Given the description of an element on the screen output the (x, y) to click on. 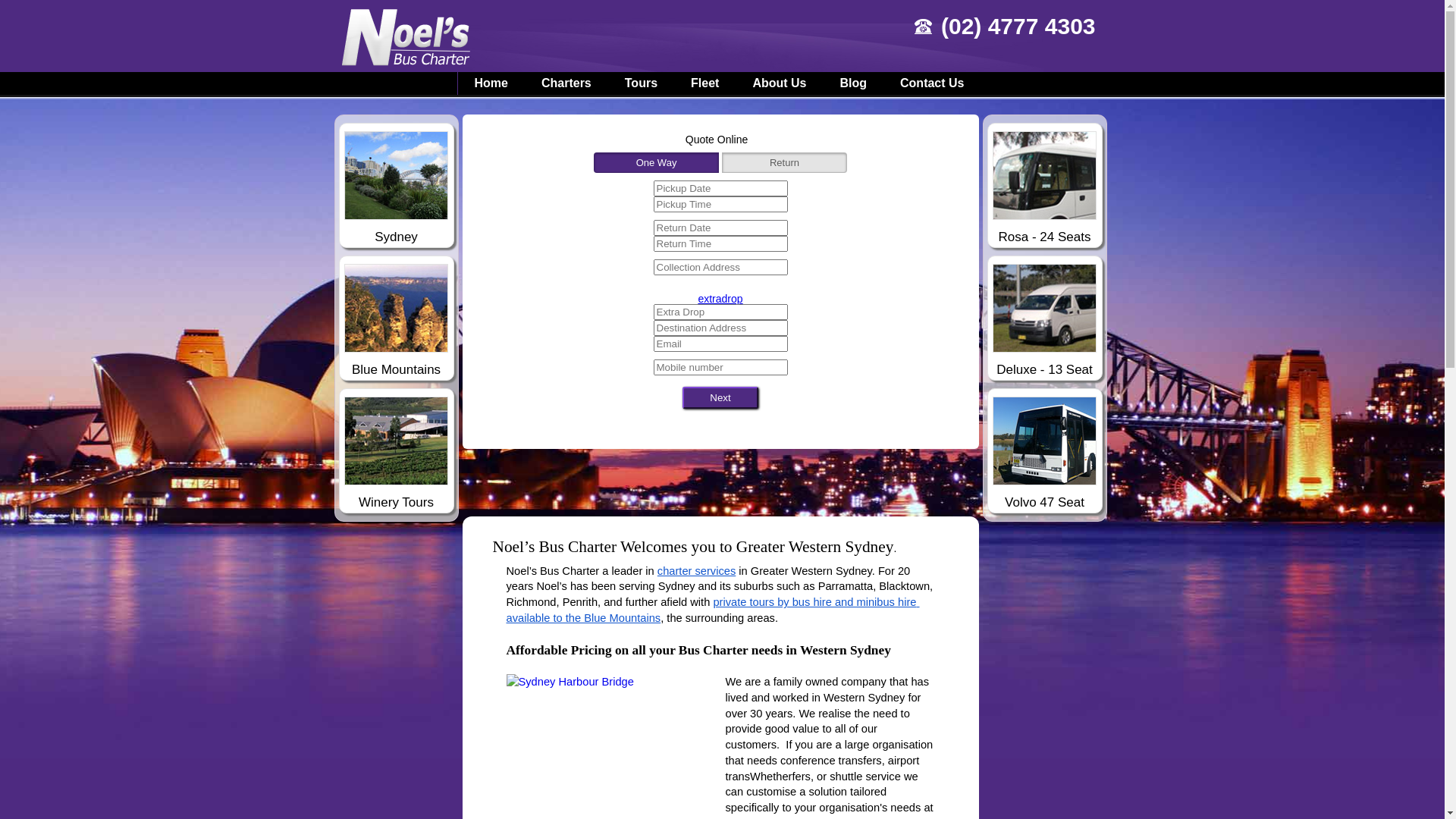
Sydney Element type: text (396, 187)
Home Element type: text (491, 83)
Rosa - 24 Seats Element type: text (1044, 187)
About Us Element type: text (778, 83)
Deluxe - 13 Seat Element type: text (1044, 319)
Next Element type: text (720, 397)
extradrop Element type: text (719, 298)
Contact Us Element type: text (931, 83)
Blog Element type: text (852, 83)
Fleet Element type: text (704, 83)
Tours Element type: text (641, 83)
Volvo 47 Seat Element type: text (1044, 452)
Charters Element type: text (566, 83)
Blue Mountains Element type: text (396, 319)
charter services Element type: text (696, 570)
Winery Tours Element type: text (396, 452)
